Given the description of an element on the screen output the (x, y) to click on. 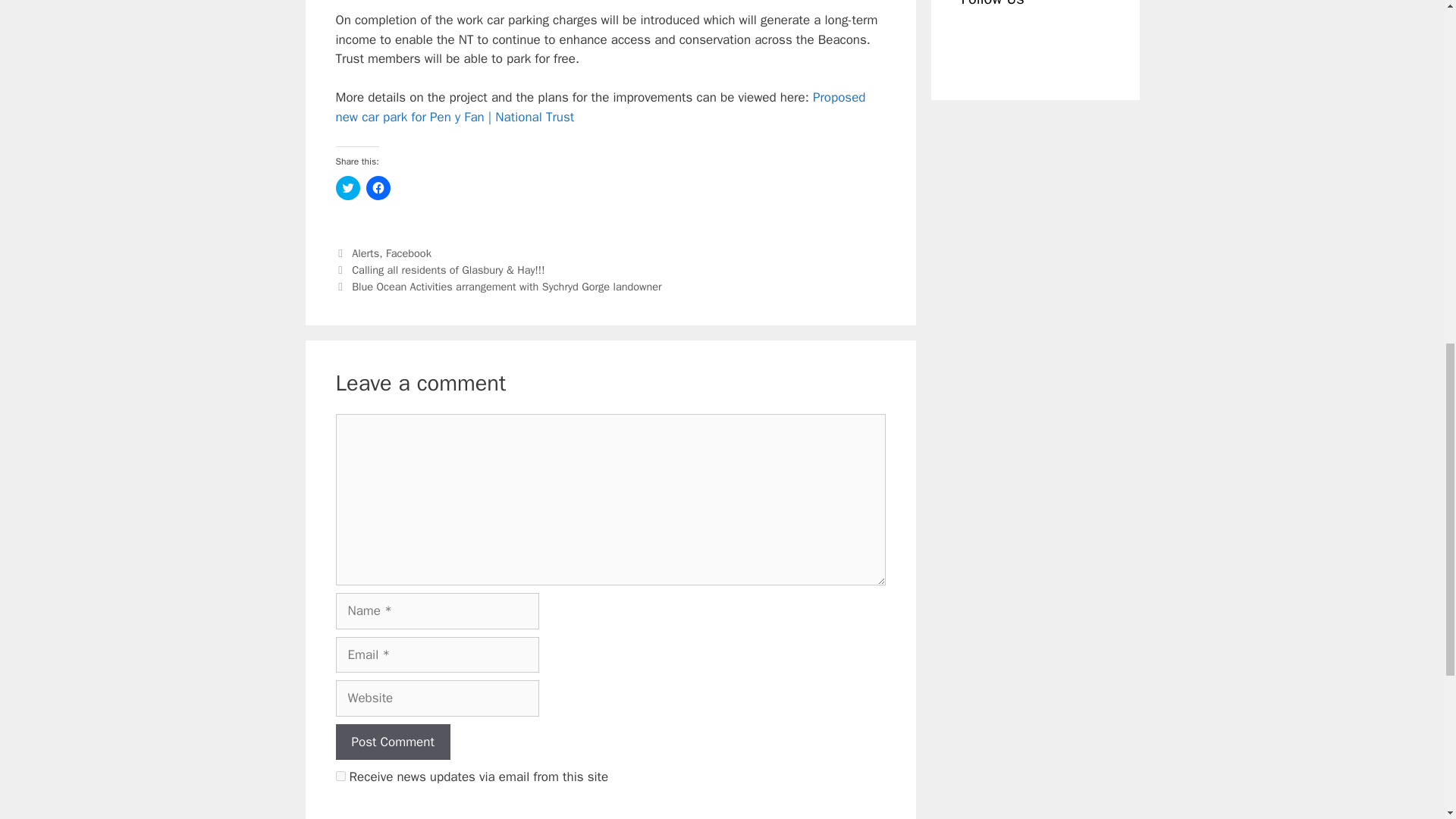
Alerts (365, 253)
Click to share on Twitter (346, 187)
Facebook (407, 253)
Post Comment (391, 741)
1 (339, 776)
Click to share on Facebook (377, 187)
